Given the description of an element on the screen output the (x, y) to click on. 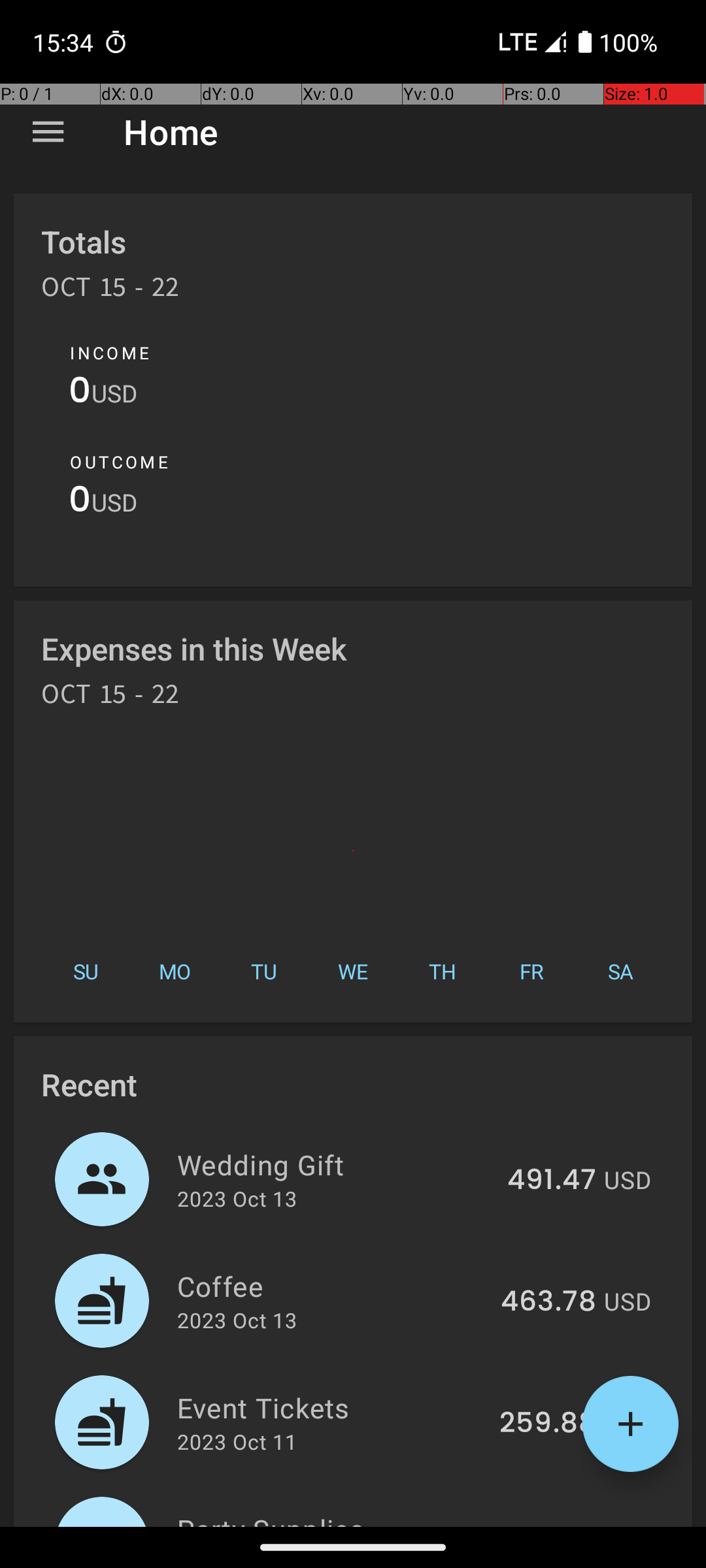
Wedding Gift Element type: android.widget.TextView (334, 1164)
491.47 Element type: android.widget.TextView (551, 1180)
Coffee Element type: android.widget.TextView (331, 1285)
463.78 Element type: android.widget.TextView (548, 1301)
259.88 Element type: android.widget.TextView (547, 1423)
134.36 Element type: android.widget.TextView (551, 1524)
